Given the description of an element on the screen output the (x, y) to click on. 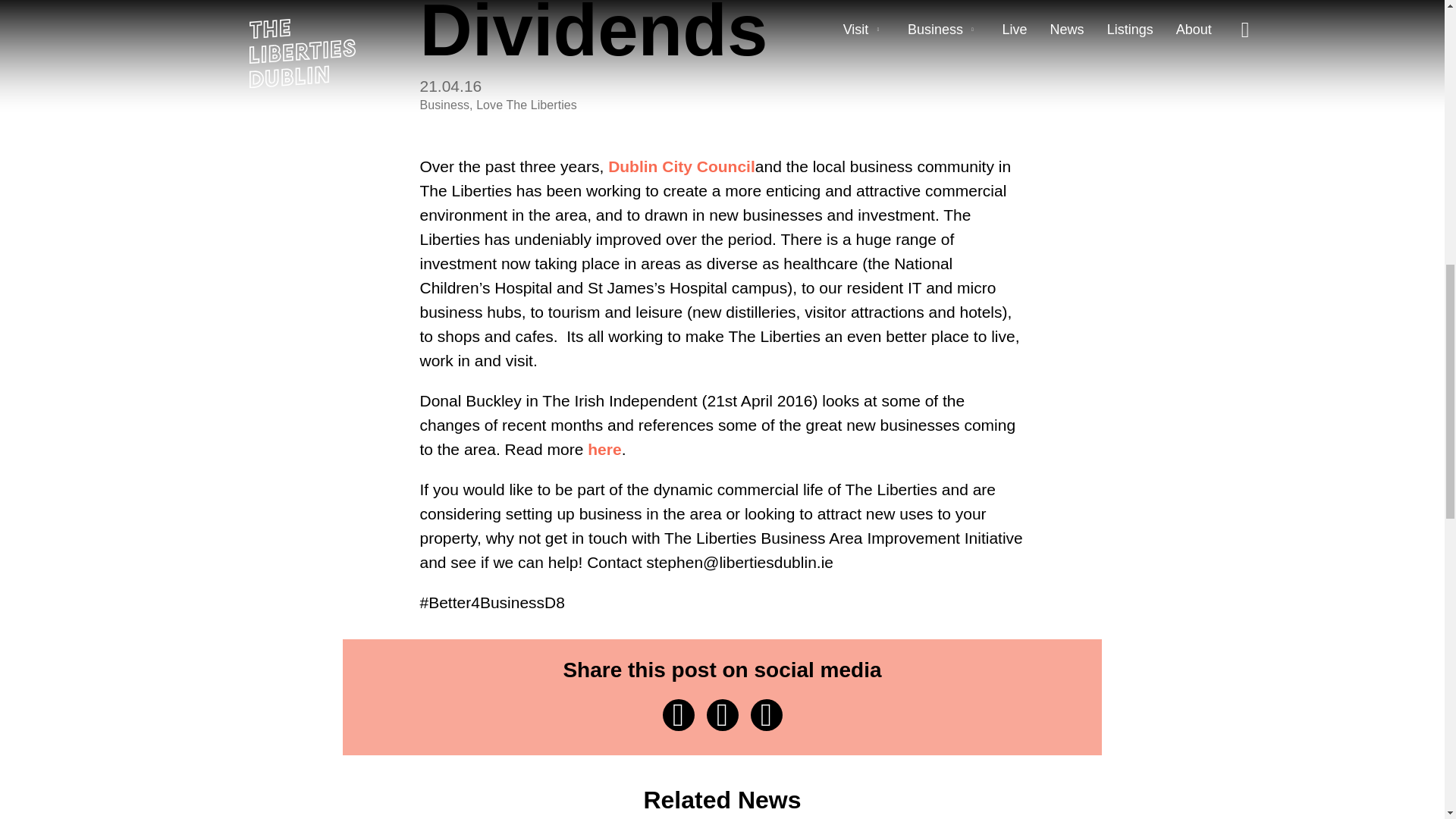
Business (445, 104)
Love The Liberties (526, 104)
here (604, 449)
Dublin City Council (681, 166)
